Given the description of an element on the screen output the (x, y) to click on. 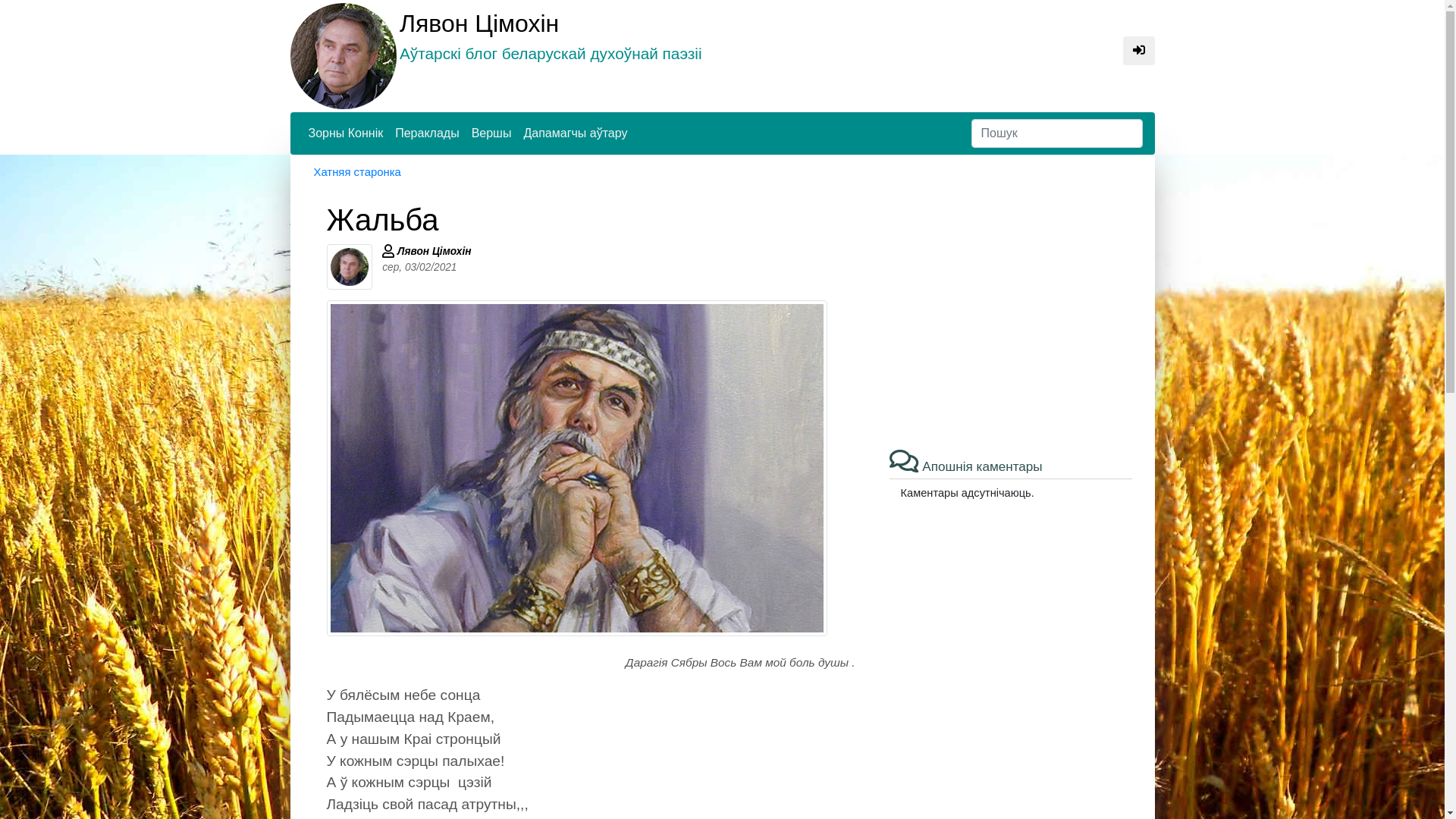
Advertisement Element type: hover (1010, 307)
